Given the description of an element on the screen output the (x, y) to click on. 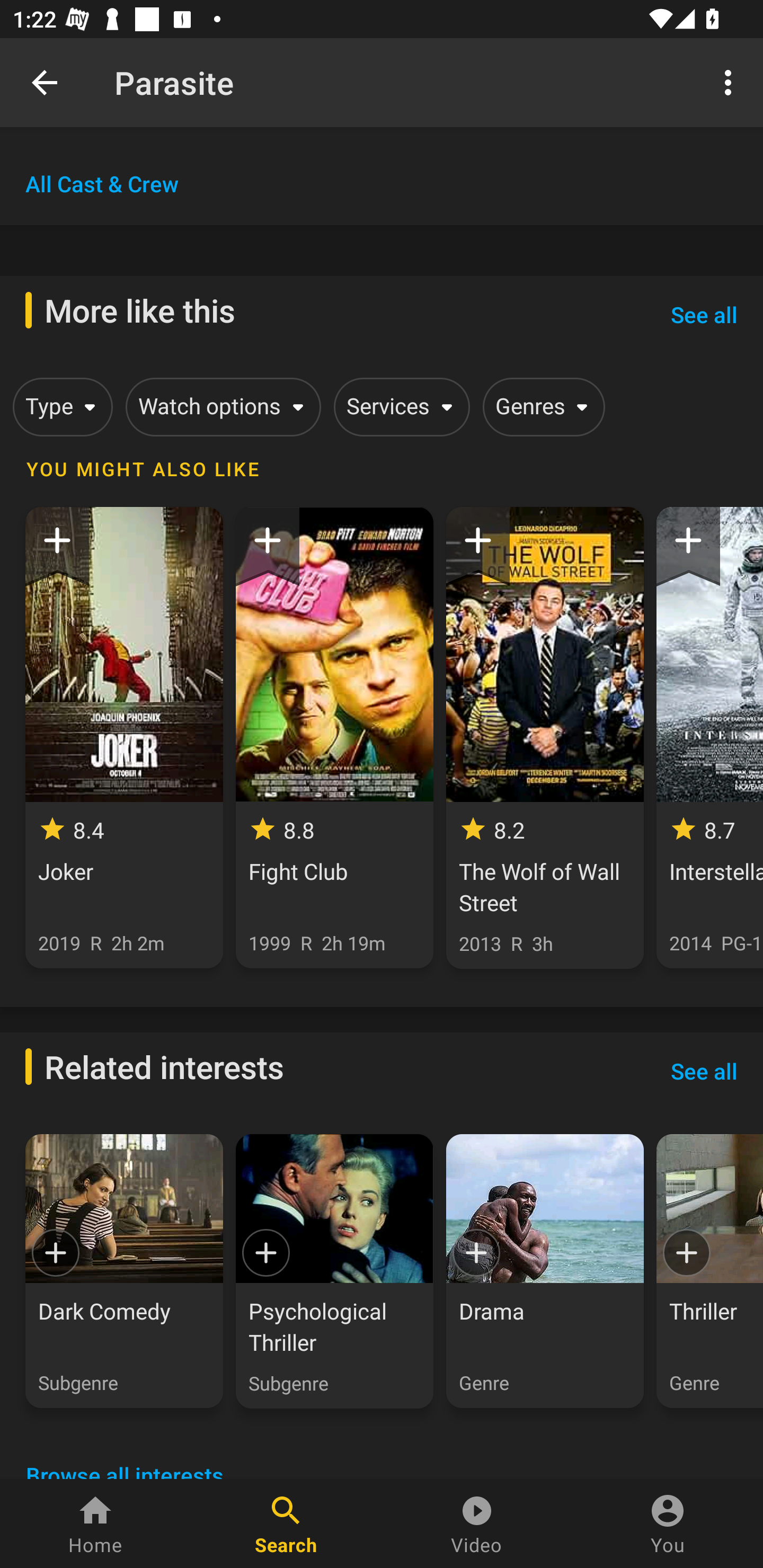
More options (731, 81)
All Cast & Crew (101, 183)
See all See all More like this (703, 313)
Type (59, 406)
Watch options (219, 406)
Services (398, 406)
Genres (540, 406)
8.4 Joker 2019  R  2h 2m (123, 737)
8.8 Fight Club 1999  R  2h 19m (334, 737)
8.2 The Wolf of Wall Street 2013  R  3h (544, 737)
See all See all Related interests (703, 1070)
Dark Comedy Subgenre (123, 1270)
Psychological Thriller Subgenre (334, 1270)
Drama Genre (544, 1270)
Home (95, 1523)
Video (476, 1523)
You (667, 1523)
